Given the description of an element on the screen output the (x, y) to click on. 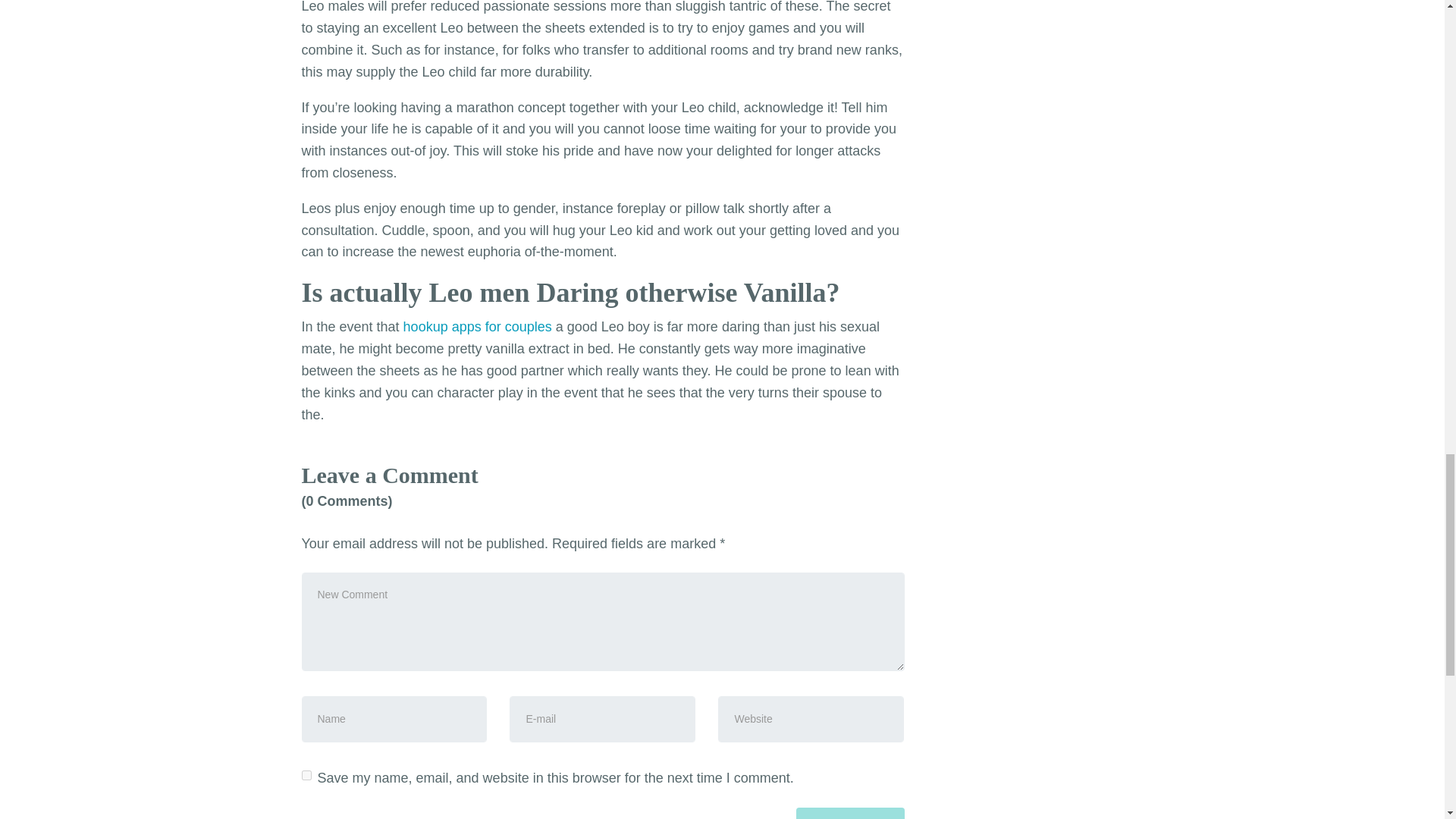
Post Comment (850, 813)
yes (306, 775)
